Given the description of an element on the screen output the (x, y) to click on. 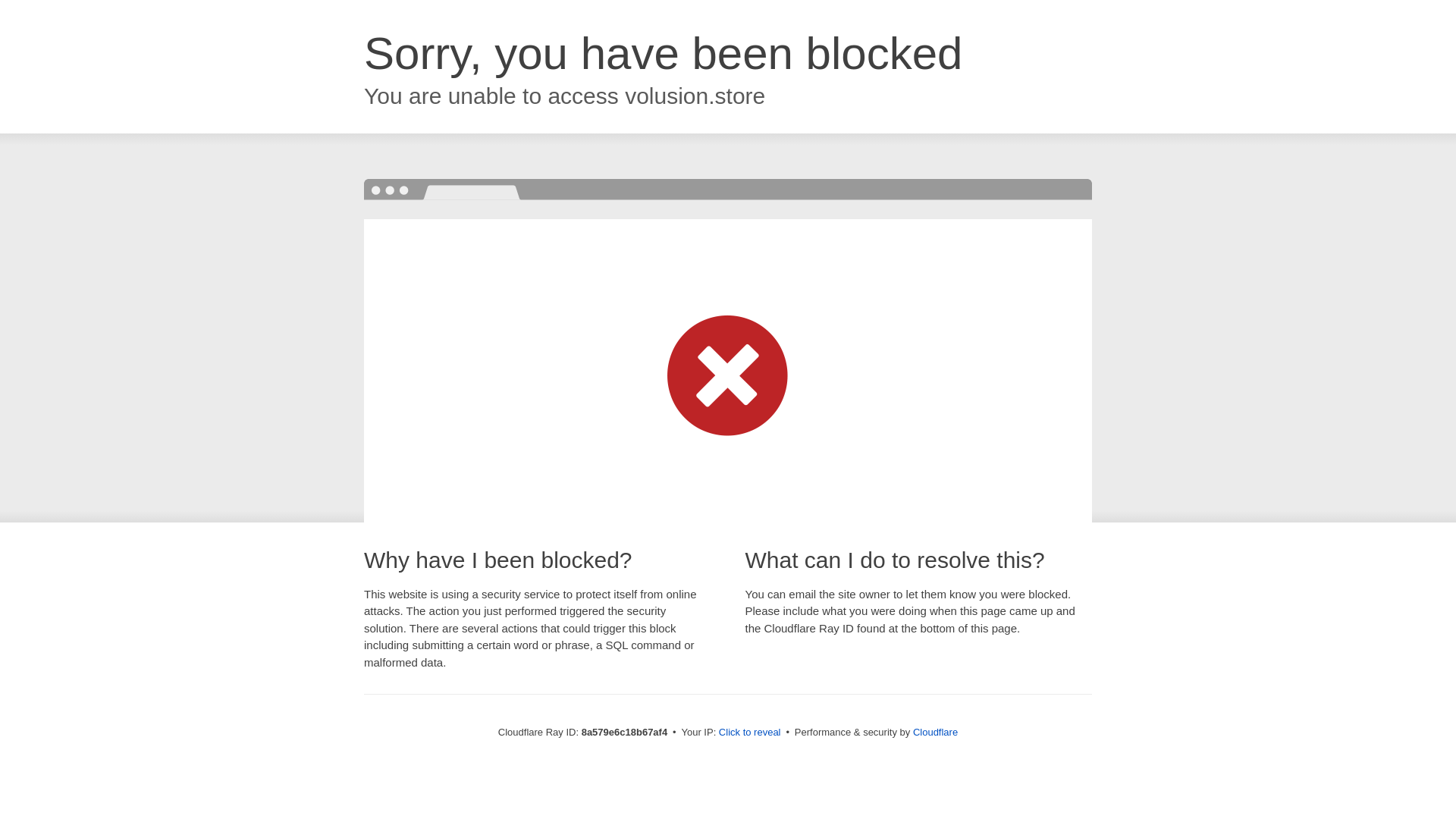
Cloudflare (935, 731)
Click to reveal (749, 732)
